Given the description of an element on the screen output the (x, y) to click on. 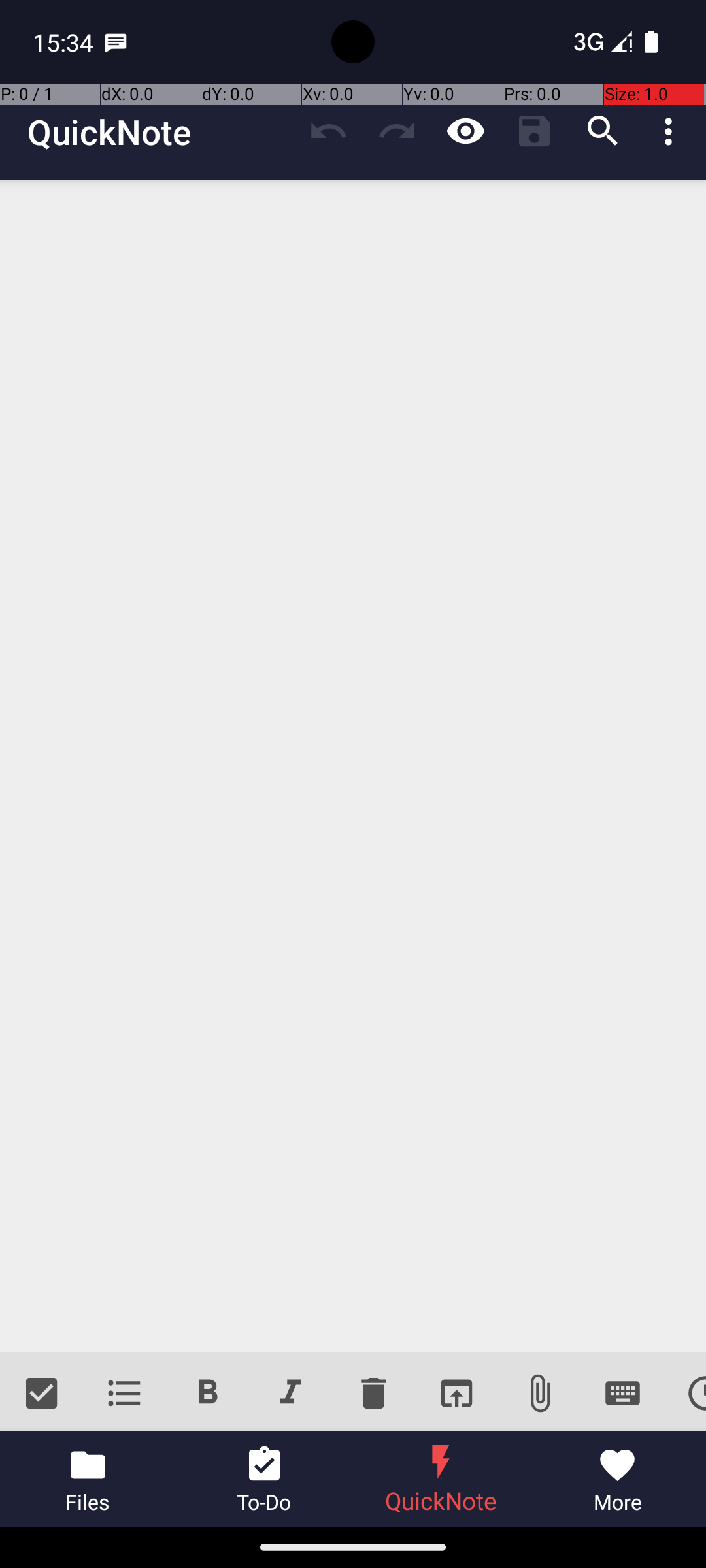
SMS Messenger notification: Martin Chen Element type: android.widget.ImageView (115, 41)
